Given the description of an element on the screen output the (x, y) to click on. 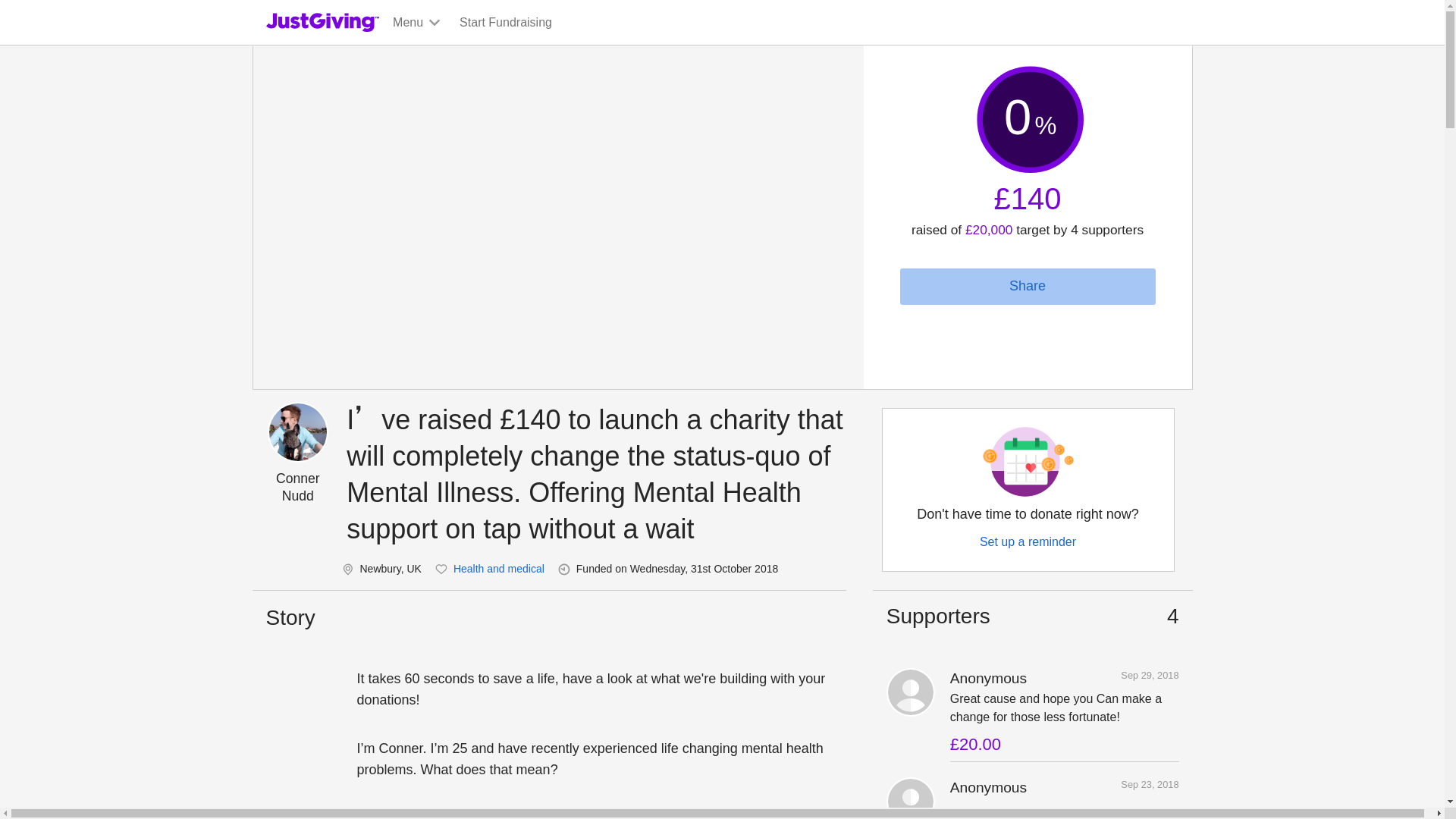
Set up a reminder (1027, 542)
Health and medical (498, 568)
Start Fundraising (505, 22)
Menu (416, 22)
Share (1026, 286)
Search (919, 57)
